Given the description of an element on the screen output the (x, y) to click on. 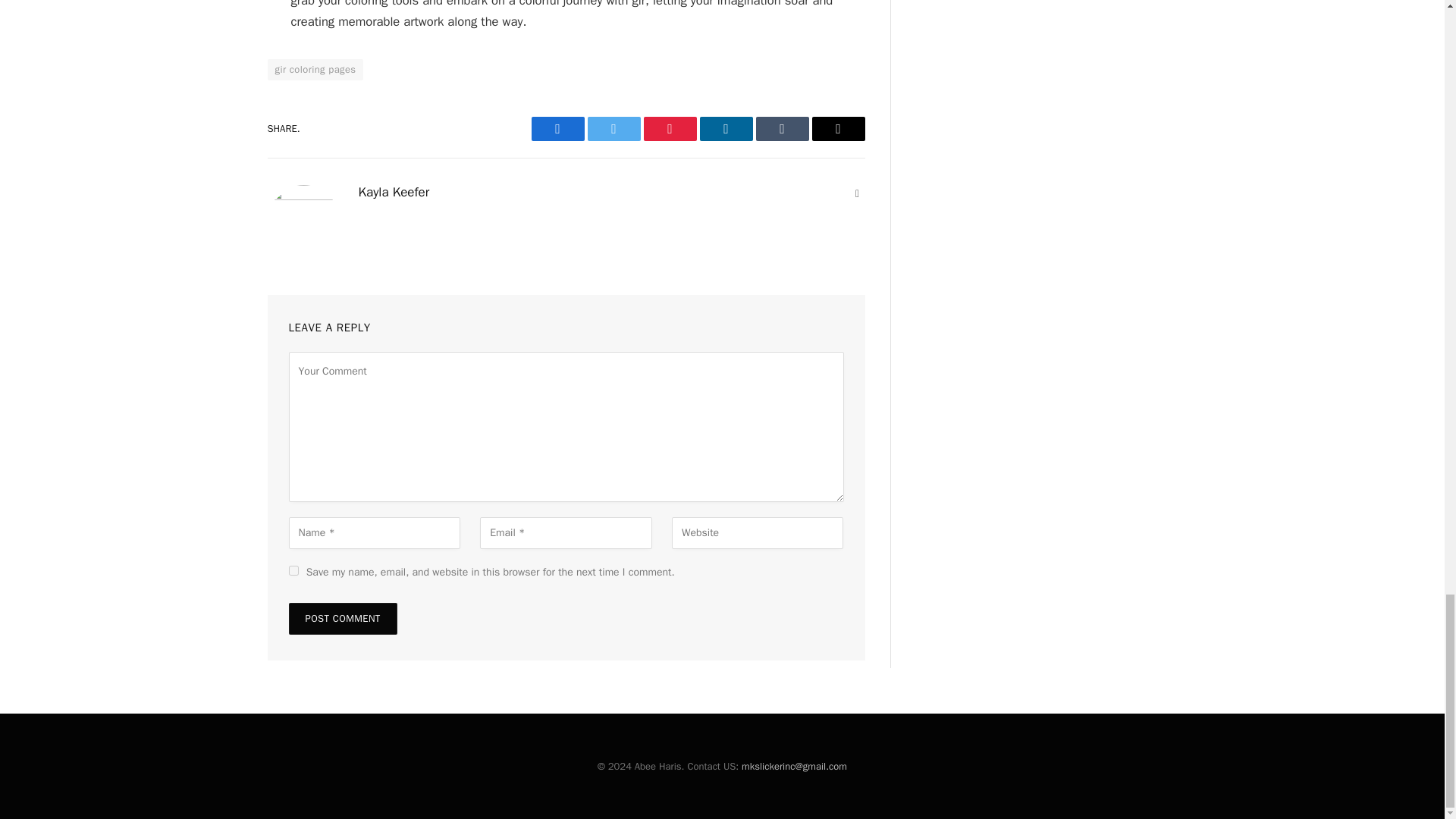
yes (293, 570)
Post Comment (342, 618)
